Given the description of an element on the screen output the (x, y) to click on. 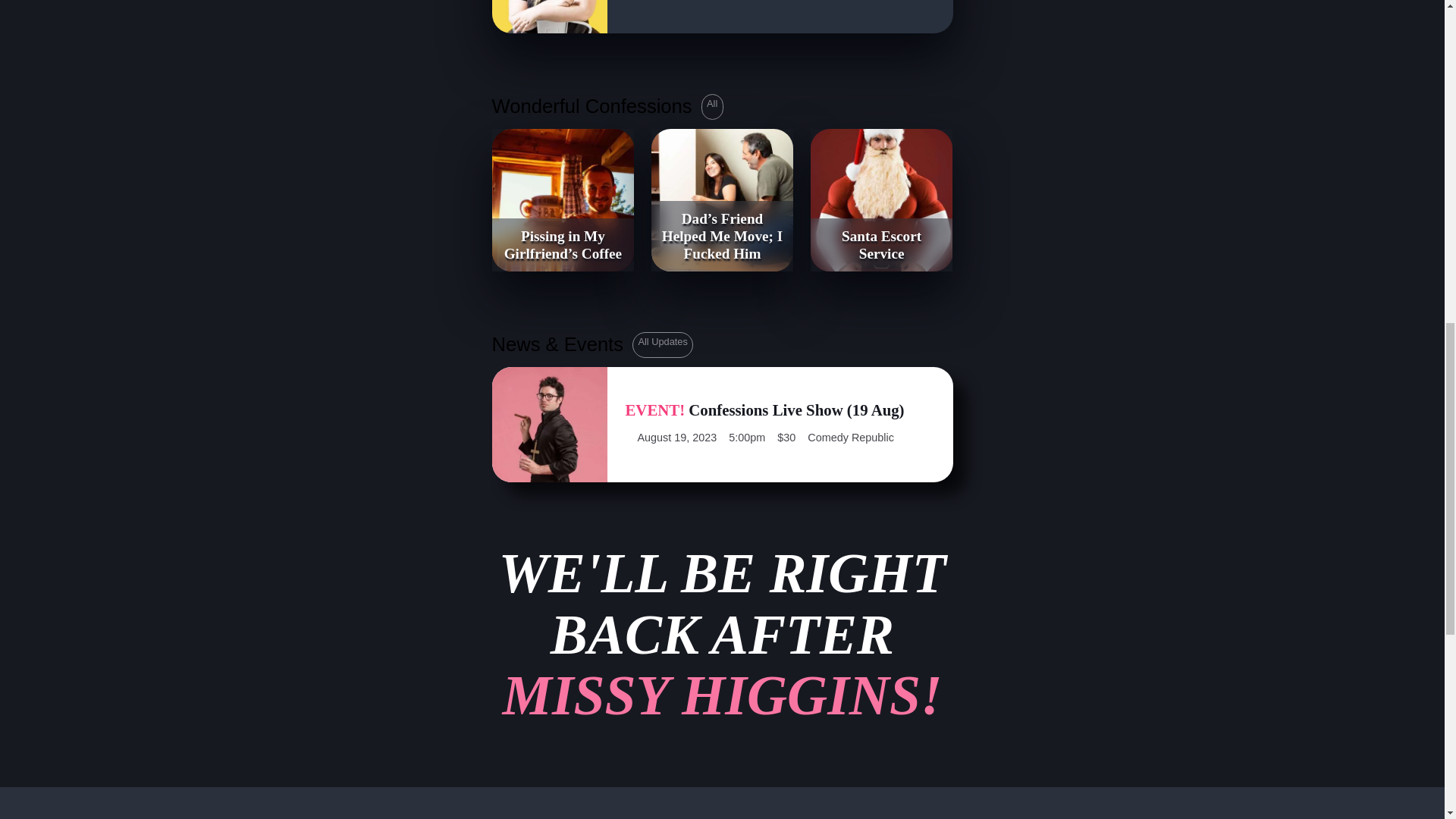
All Updates (662, 344)
Santa Escort Service (720, 634)
